Given the description of an element on the screen output the (x, y) to click on. 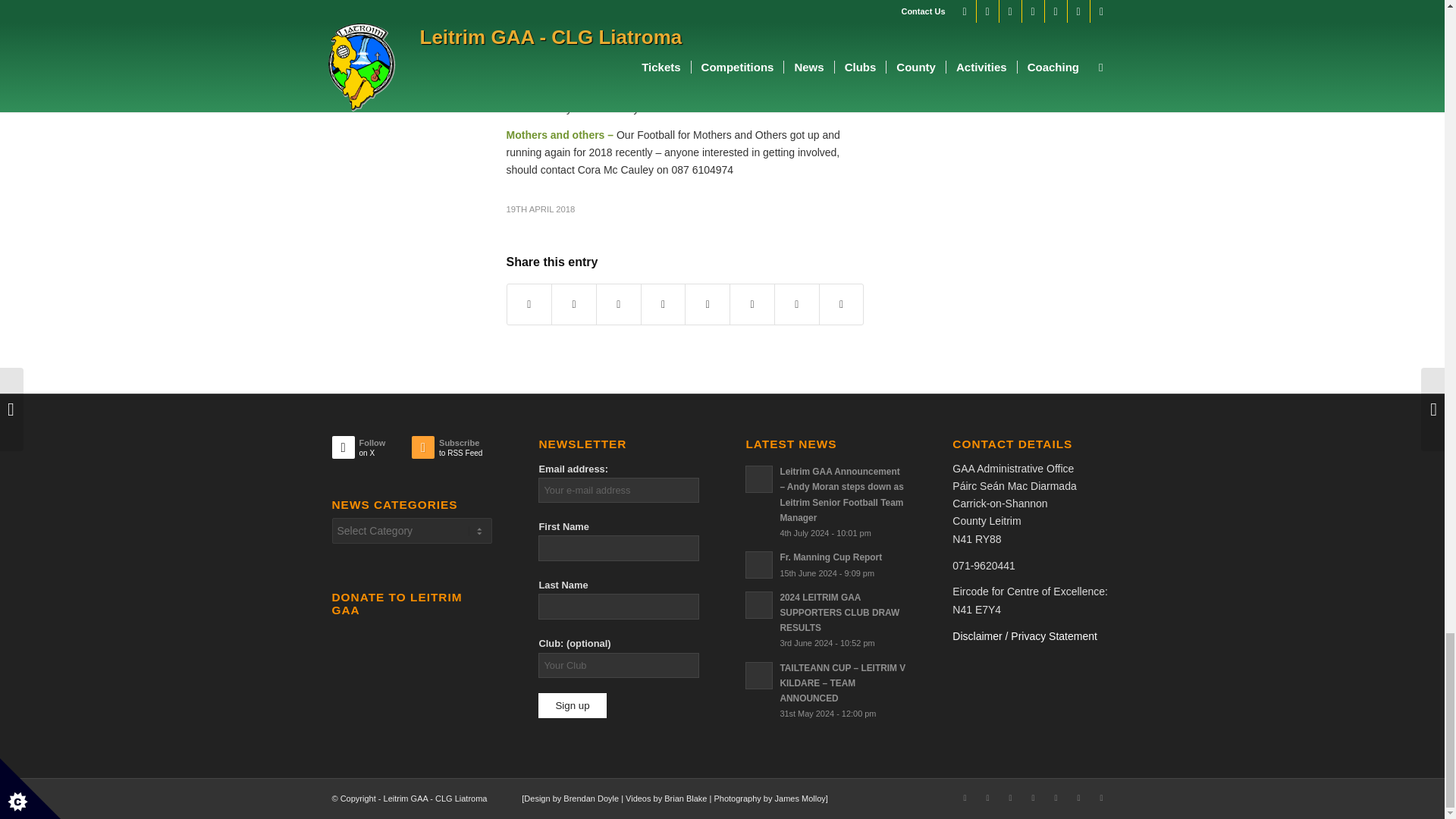
Sign up (571, 705)
